Given the description of an element on the screen output the (x, y) to click on. 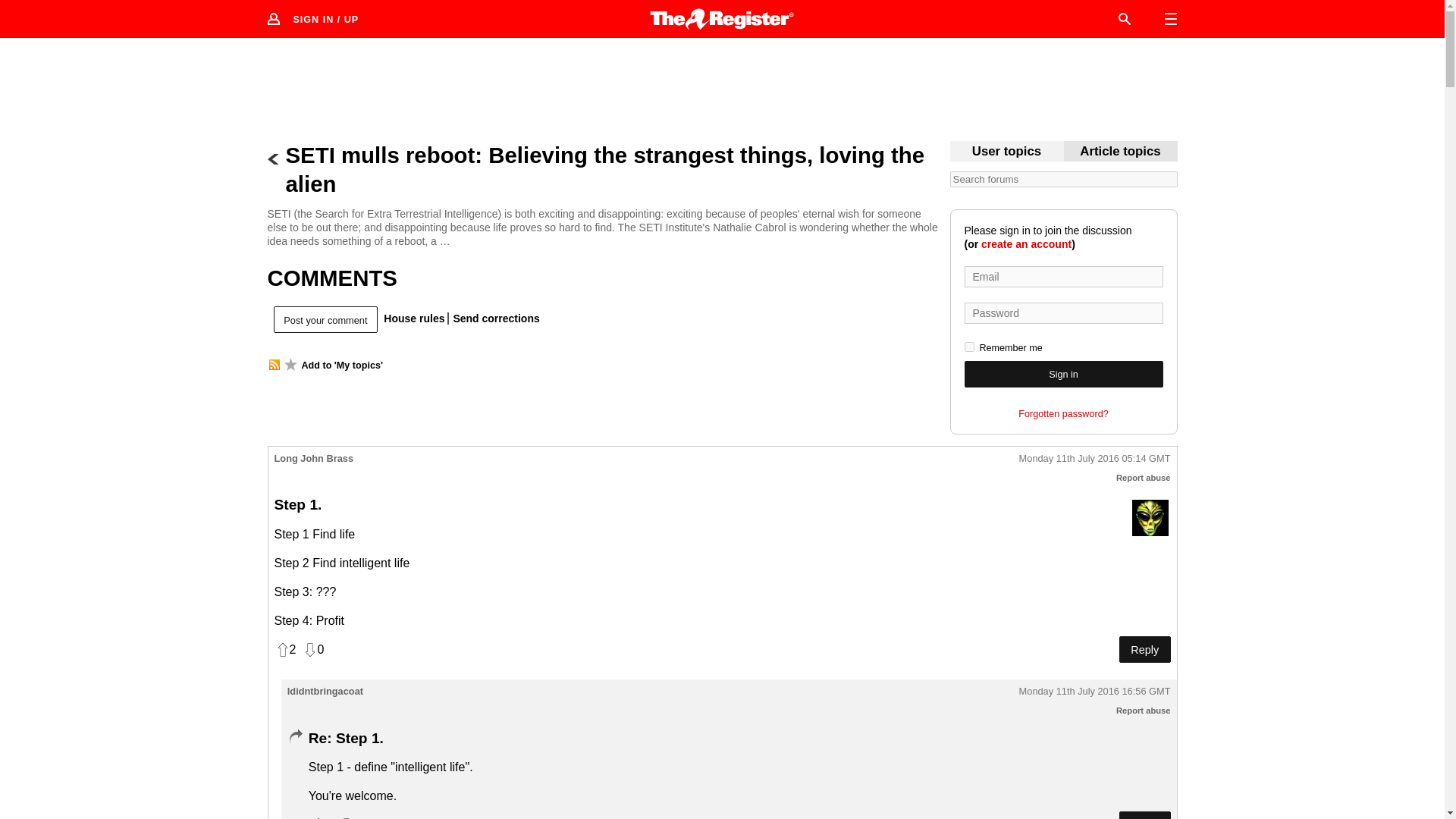
Spotted an error? Let us know. (492, 318)
Like this post? Vote for it! (286, 649)
Commentards, Commentards, Commentards (1006, 151)
In reply to (294, 736)
Inappropriate post? Report it to our moderators (1143, 477)
Sign in (1063, 374)
Like this post? Vote for it! (320, 818)
Inappropriate post? Report it to our moderators (1143, 709)
yes (968, 347)
Feed of new posts in this topic (273, 364)
